Given the description of an element on the screen output the (x, y) to click on. 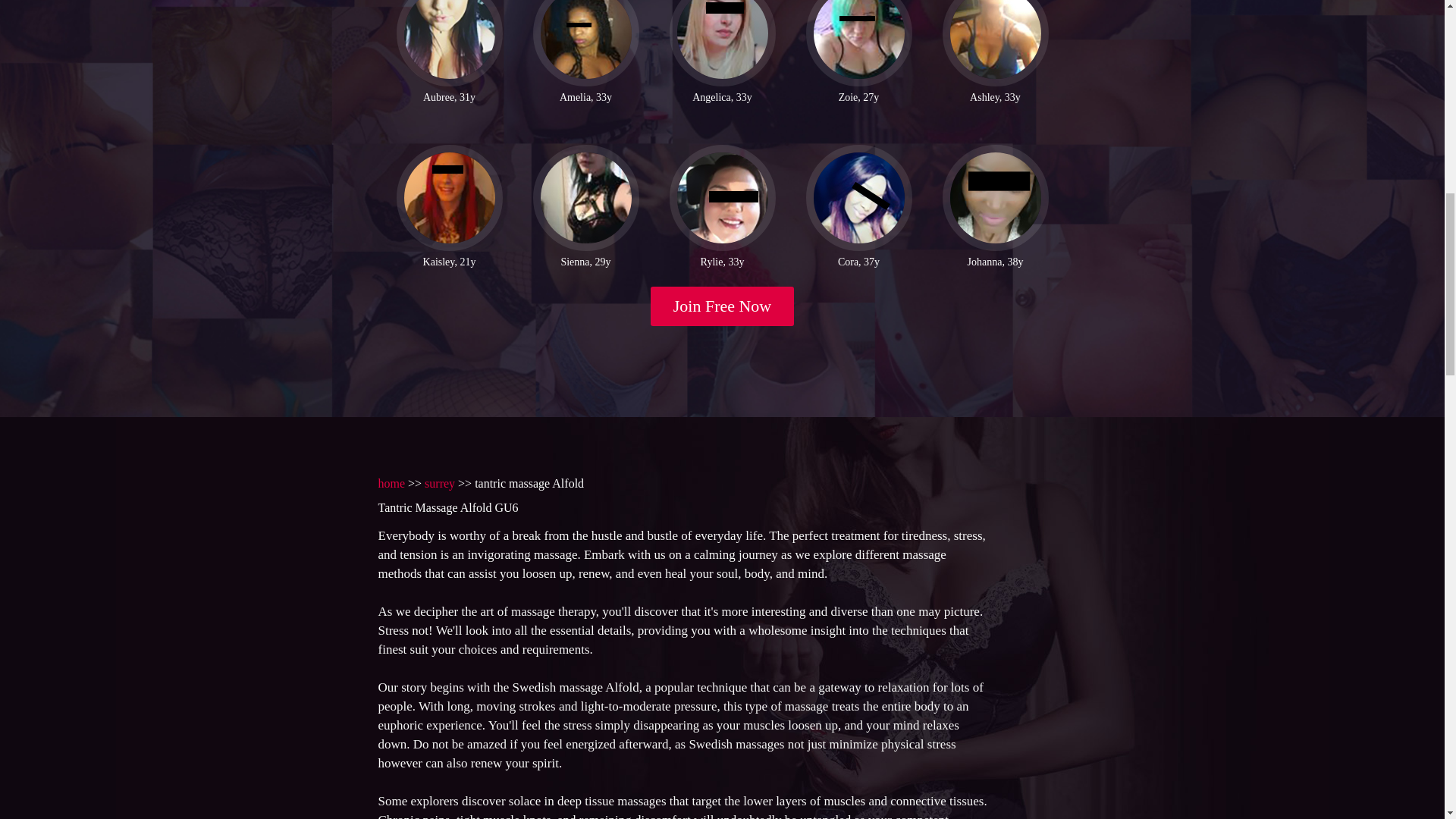
home (390, 482)
Join (722, 305)
surrey (439, 482)
Join Free Now (722, 305)
